Given the description of an element on the screen output the (x, y) to click on. 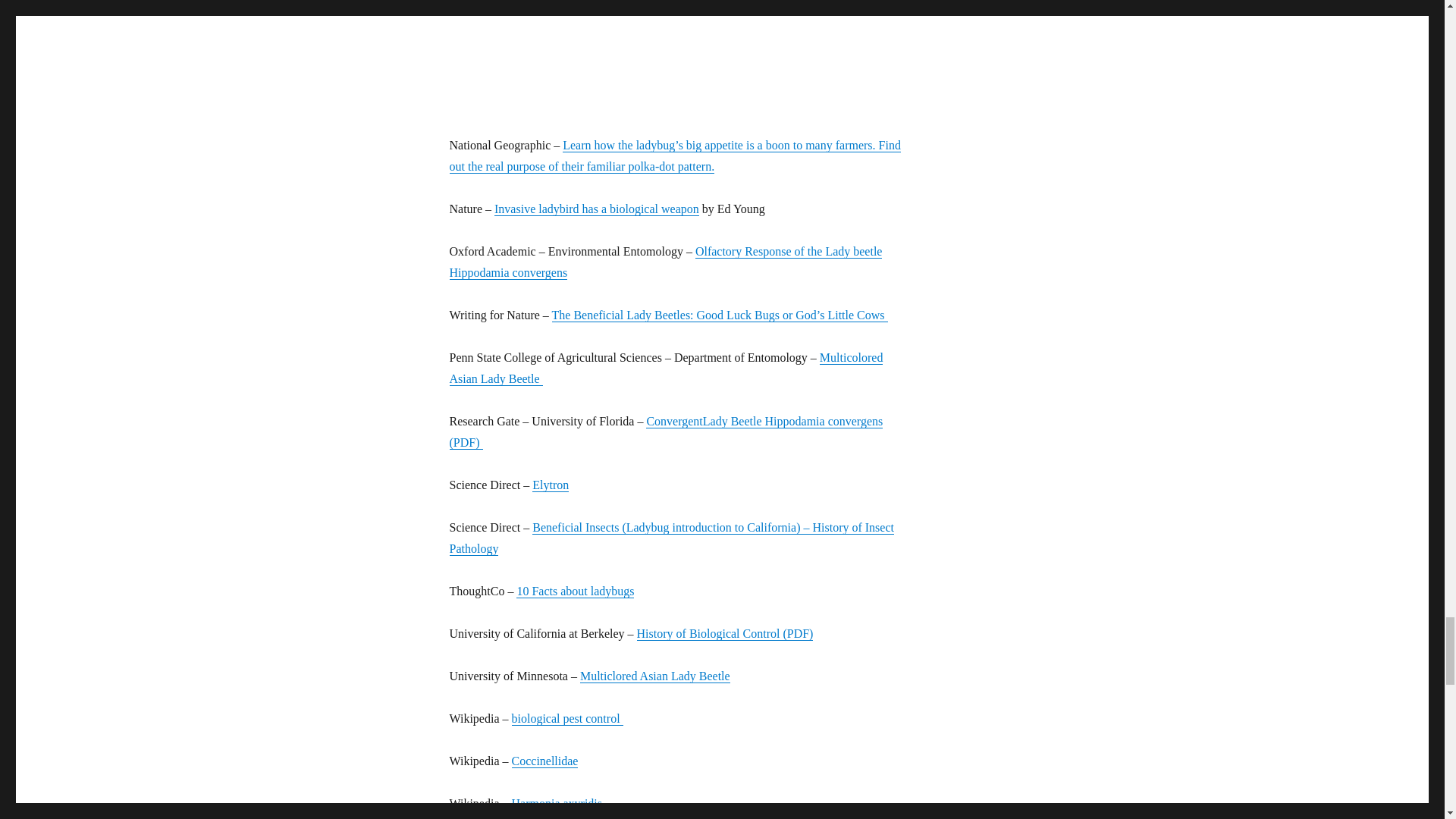
Multicolored Asian Lady Beetle  (665, 367)
Multiclored Asian Lady Beetle (654, 675)
10 Facts about ladybugs (574, 590)
Elytron (550, 484)
Olfactory Response of the Lady beetle Hippodamia convergens (665, 261)
Invasive ladybird has a biological weapon (596, 208)
Coccinellidae (544, 760)
biological pest control  (567, 717)
